Given the description of an element on the screen output the (x, y) to click on. 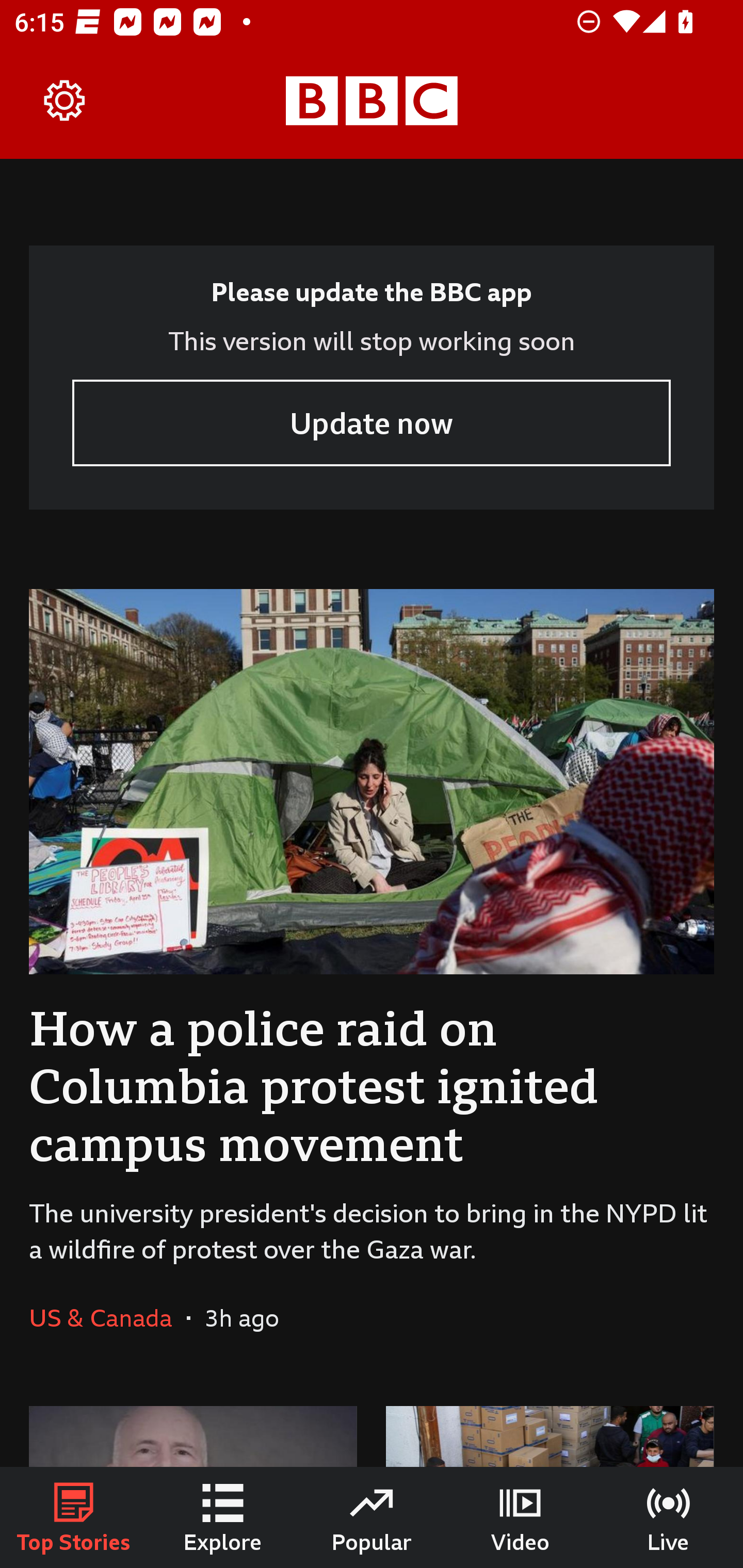
Settings (64, 100)
Update now (371, 422)
US & Canada In the section US & Canada (107, 1317)
Explore (222, 1517)
Popular (371, 1517)
Video (519, 1517)
Live (668, 1517)
